Given the description of an element on the screen output the (x, y) to click on. 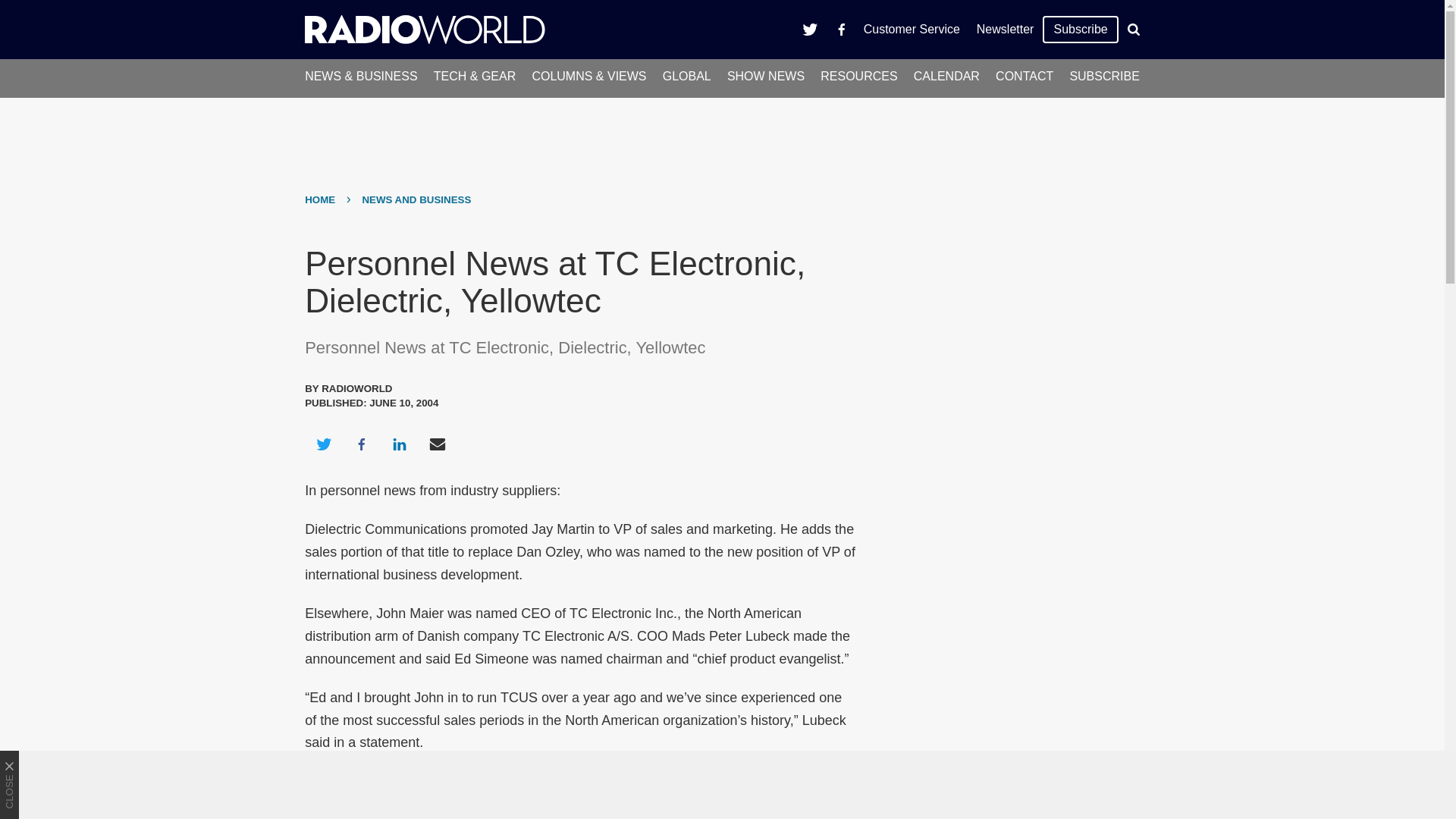
Share via Email (438, 444)
Share on LinkedIn (399, 444)
Share on Facebook (361, 444)
Share on Twitter (323, 444)
Customer Service (912, 29)
